Given the description of an element on the screen output the (x, y) to click on. 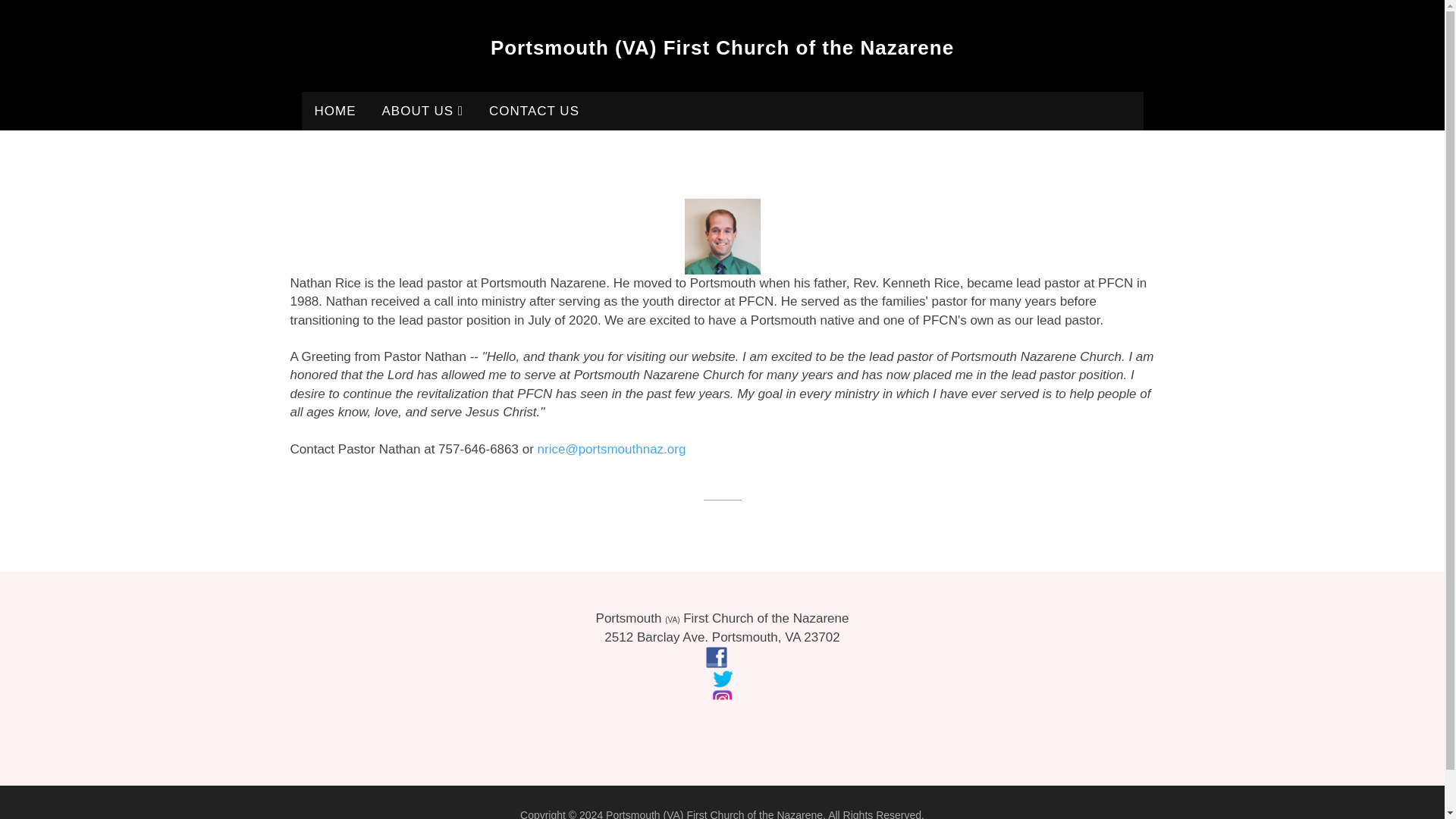
CONTACT US (534, 110)
ABOUT US (422, 110)
HOME (335, 110)
